Given the description of an element on the screen output the (x, y) to click on. 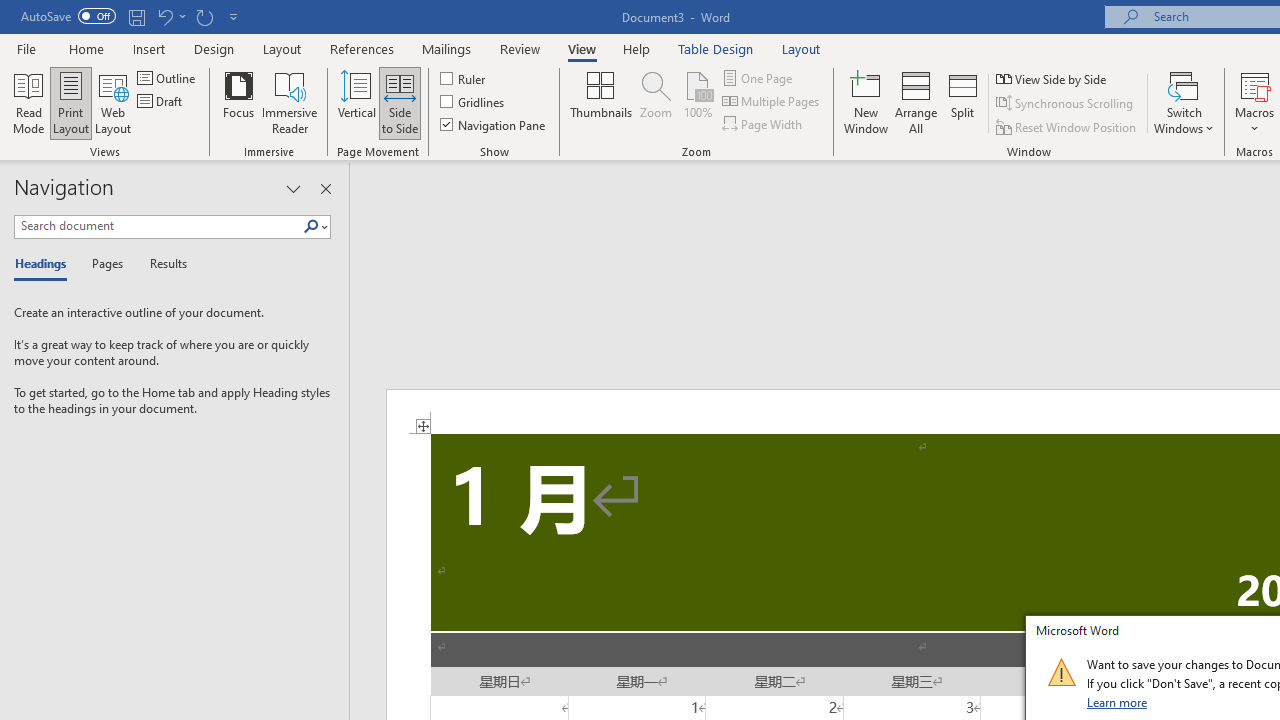
Table Design (715, 48)
New Window (866, 102)
Repeat Doc Close (204, 15)
View Side by Side (1053, 78)
Immersive Reader (289, 102)
Page Width (763, 124)
Undo Increase Indent (164, 15)
Reset Window Position (1068, 126)
